Given the description of an element on the screen output the (x, y) to click on. 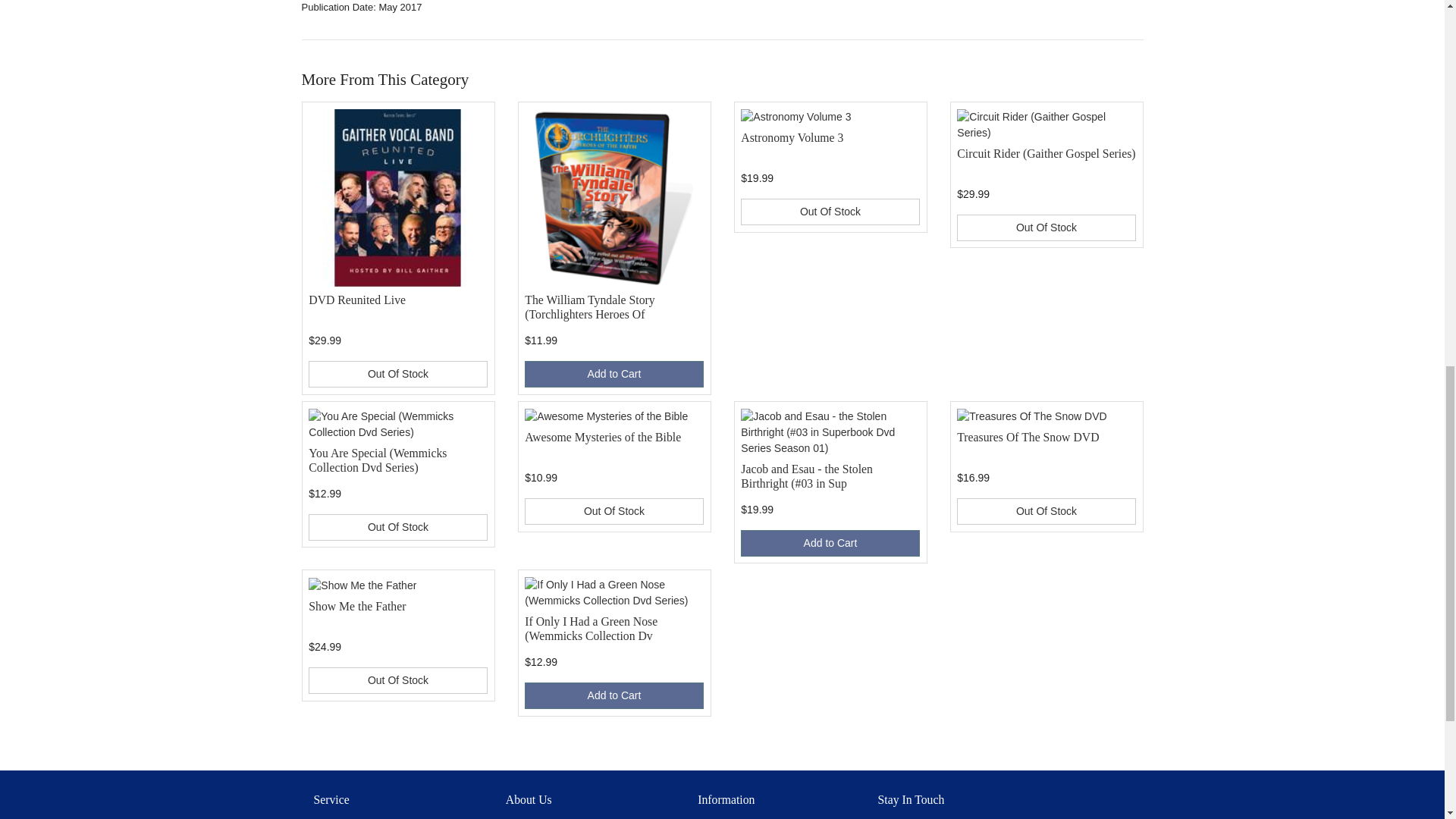
Notify Me When Show Me the Father Is Back In Stock (397, 680)
Notify Me When DVD Reunited Live Is Back In Stock (397, 374)
Notify Me When Treasures Of The Snow DVD Is Back In Stock (1045, 510)
Notify Me When Astronomy Volume 3 Is Back In Stock (829, 212)
